Given the description of an element on the screen output the (x, y) to click on. 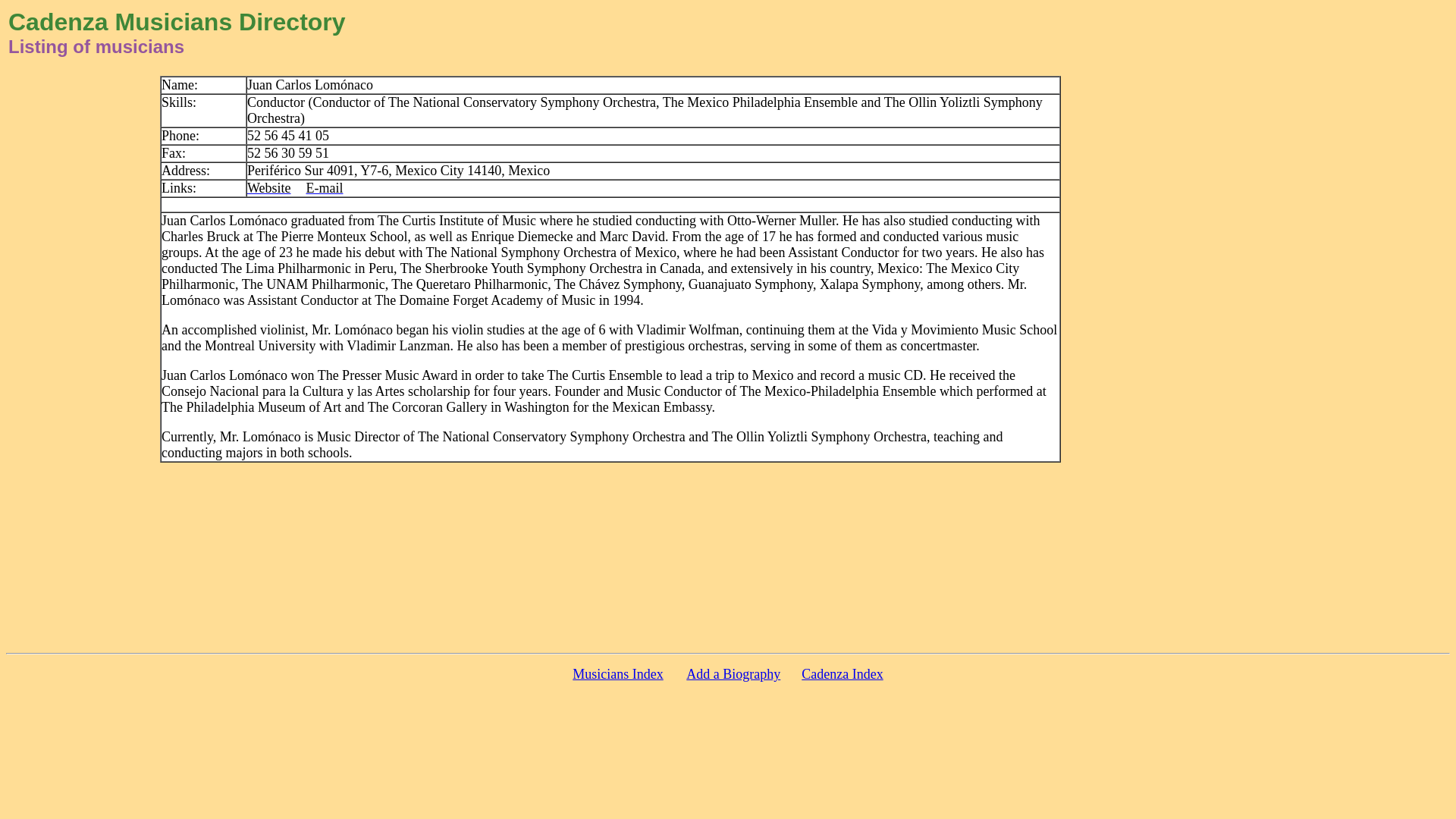
E-mail (323, 187)
Advertisement (727, 606)
Website (269, 187)
Add a Biography (732, 673)
Cadenza Index (842, 674)
Musicians Index (617, 674)
